Given the description of an element on the screen output the (x, y) to click on. 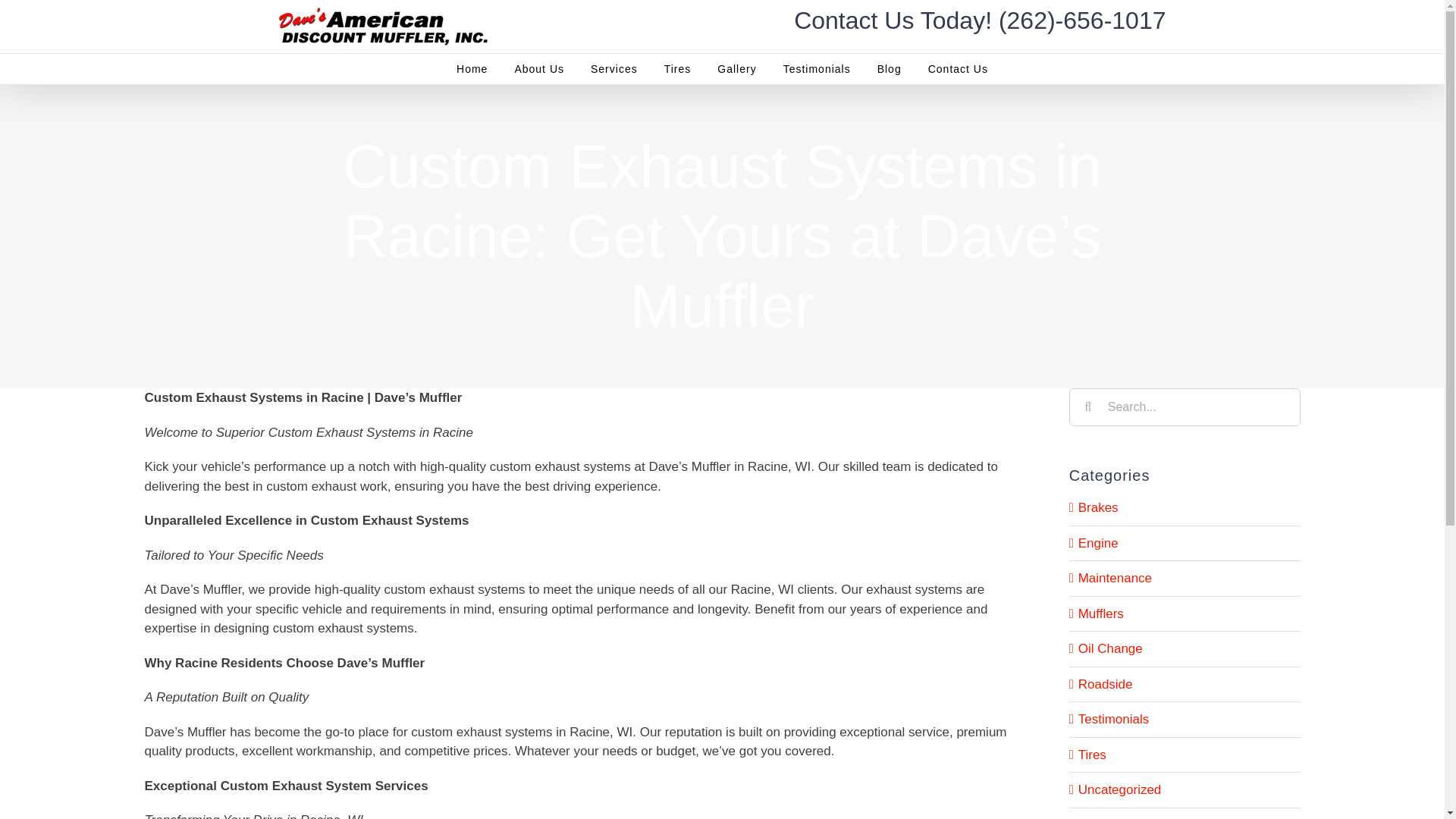
About Us (538, 69)
Mufflers (1185, 613)
Auto Repair and Maintenance Shop Kenosha (538, 69)
Testimonials (1185, 719)
Brakes (1185, 507)
Testimonials (816, 69)
Uncategorized (1185, 790)
Home (472, 69)
Auto Repair Shop Kenosha WI (472, 69)
